Given the description of an element on the screen output the (x, y) to click on. 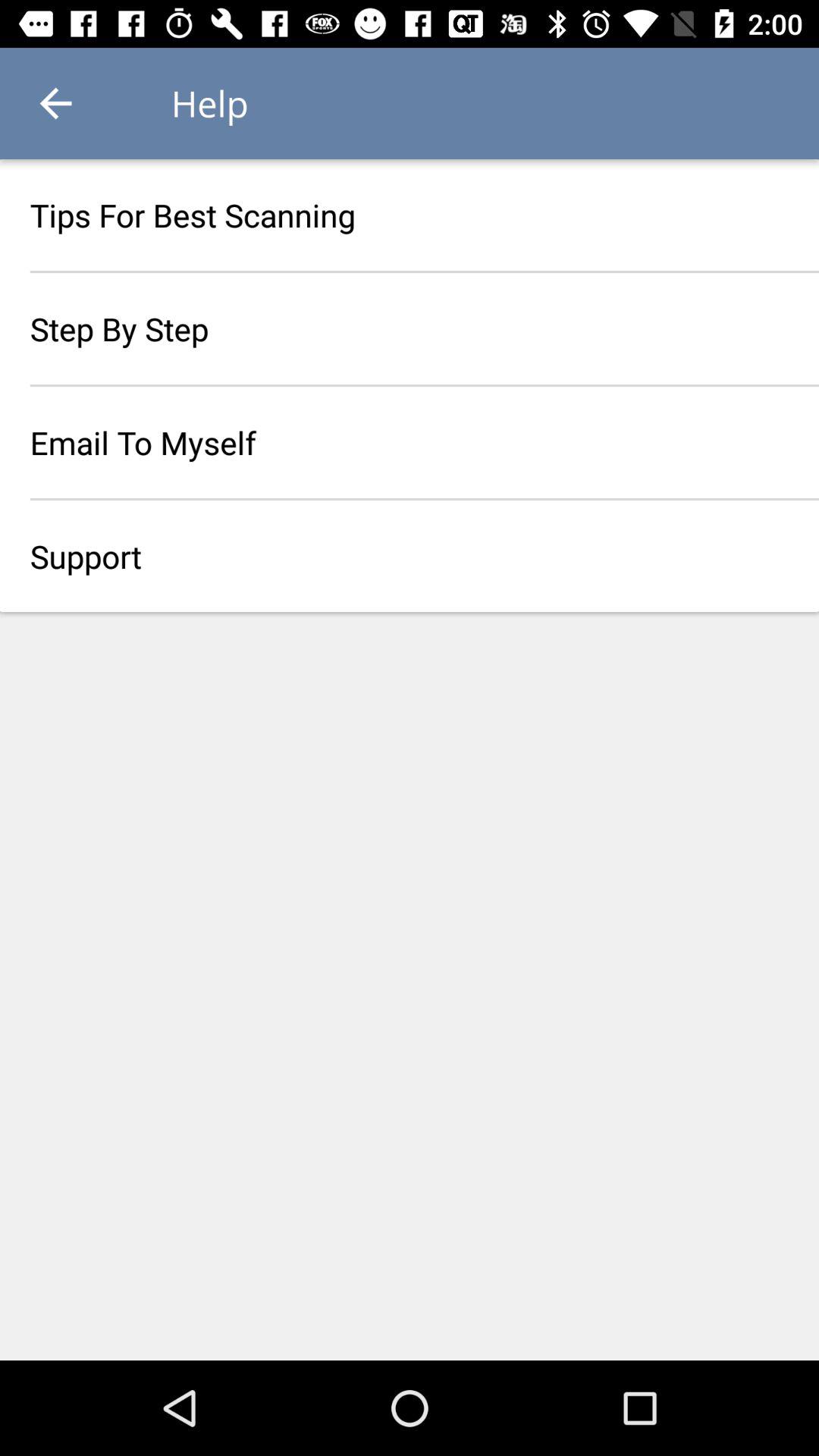
press item below the tips for best (409, 328)
